Given the description of an element on the screen output the (x, y) to click on. 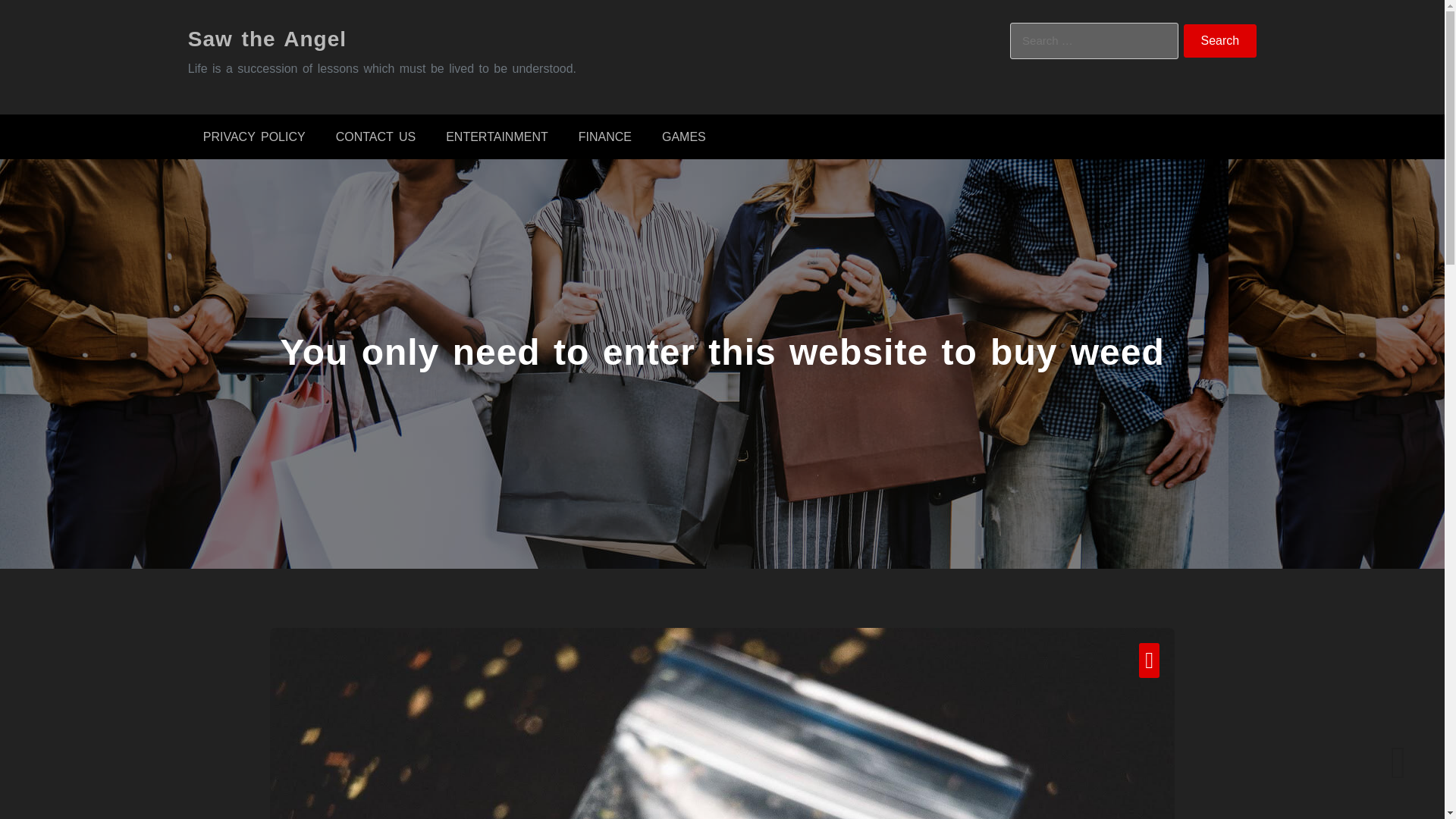
PRIVACY POLICY (253, 136)
Search (1220, 40)
FINANCE (604, 136)
Search (1220, 40)
Search (1220, 40)
GAMES (683, 136)
ENTERTAINMENT (496, 136)
CONTACT US (375, 136)
Saw the Angel (266, 38)
